Given the description of an element on the screen output the (x, y) to click on. 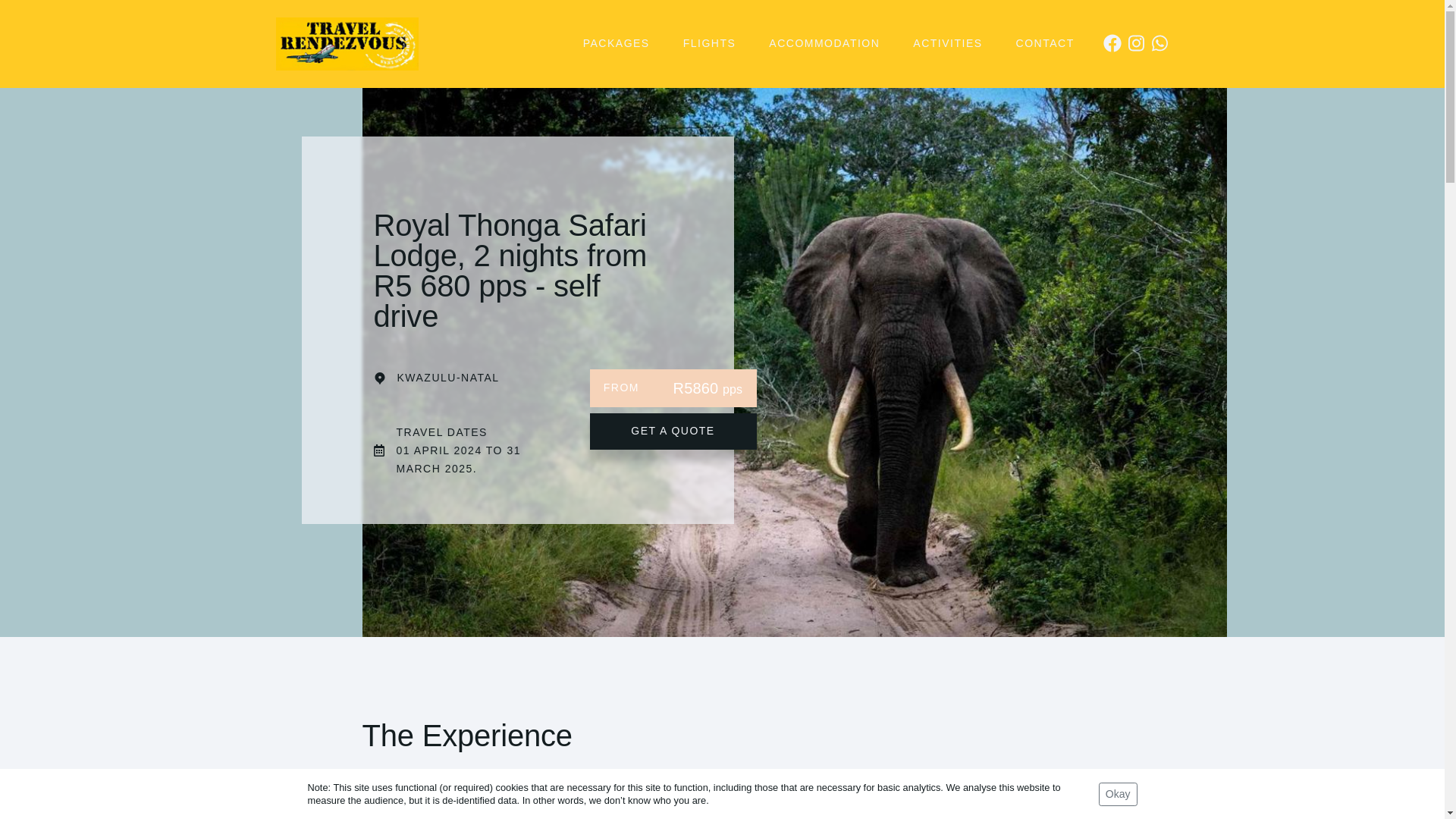
ACCOMMODATION (823, 44)
Okay (1118, 793)
PACKAGES (616, 44)
GET A QUOTE (673, 431)
FLIGHTS (709, 44)
ACTIVITIES (947, 44)
CONTACT (1045, 44)
